Given the description of an element on the screen output the (x, y) to click on. 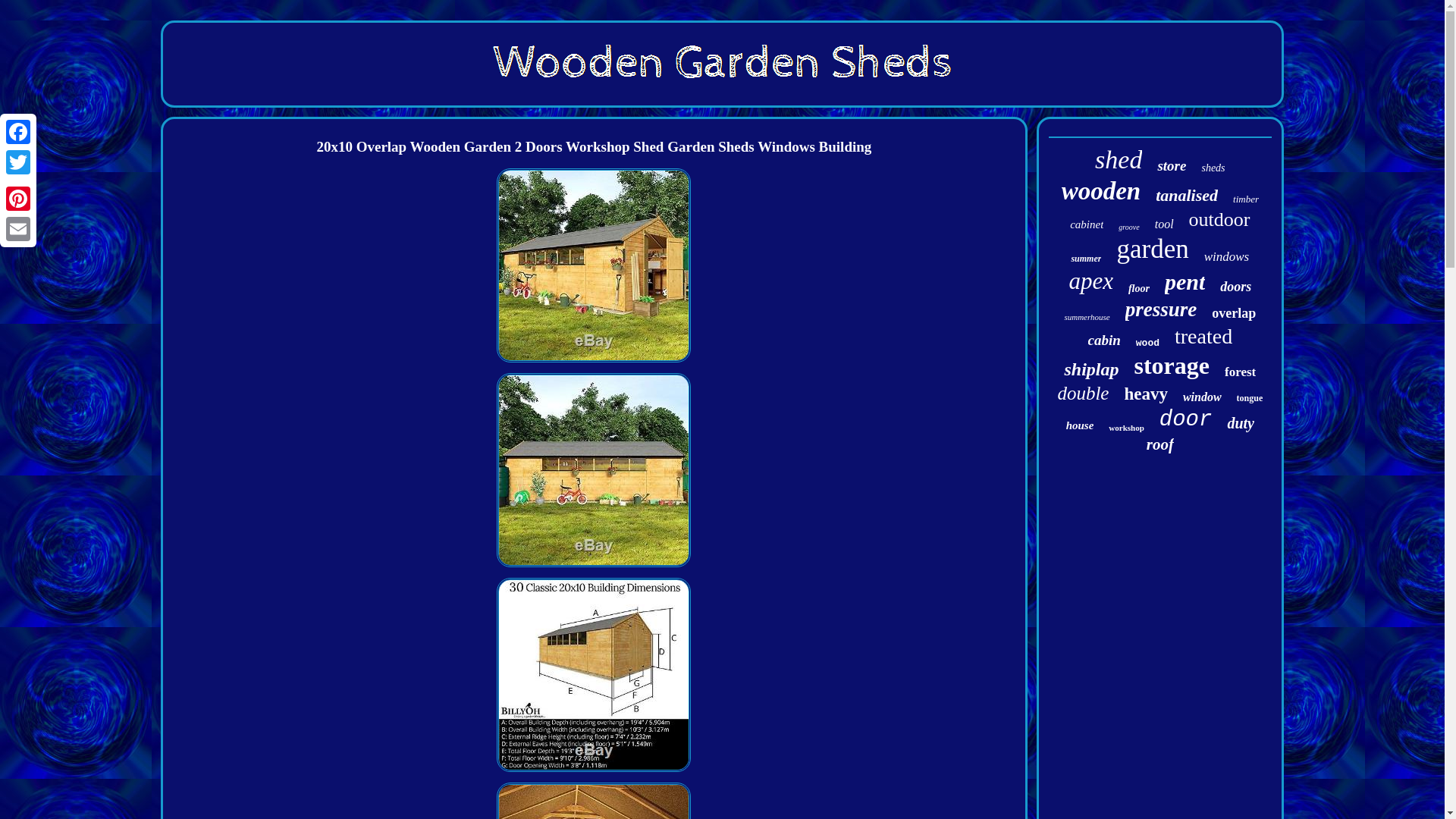
treated (1202, 336)
Pinterest (17, 198)
pressure (1160, 309)
garden (1152, 249)
Twitter (17, 162)
shed (1117, 159)
store (1171, 166)
doors (1235, 286)
shiplap (1091, 369)
tanalised (1186, 195)
pent (1184, 281)
heavy (1145, 394)
double (1082, 393)
outdoor (1219, 219)
